Given the description of an element on the screen output the (x, y) to click on. 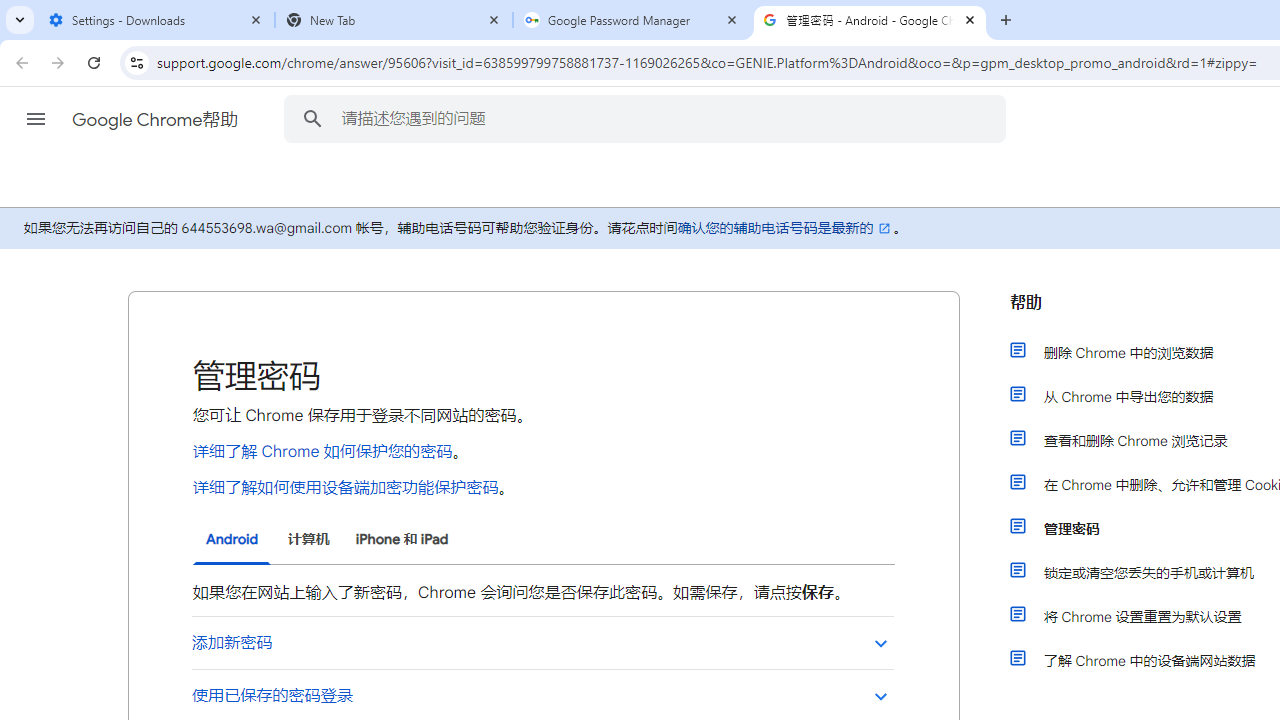
Settings - Downloads (156, 20)
New Tab (394, 20)
Google Password Manager (632, 20)
